Given the description of an element on the screen output the (x, y) to click on. 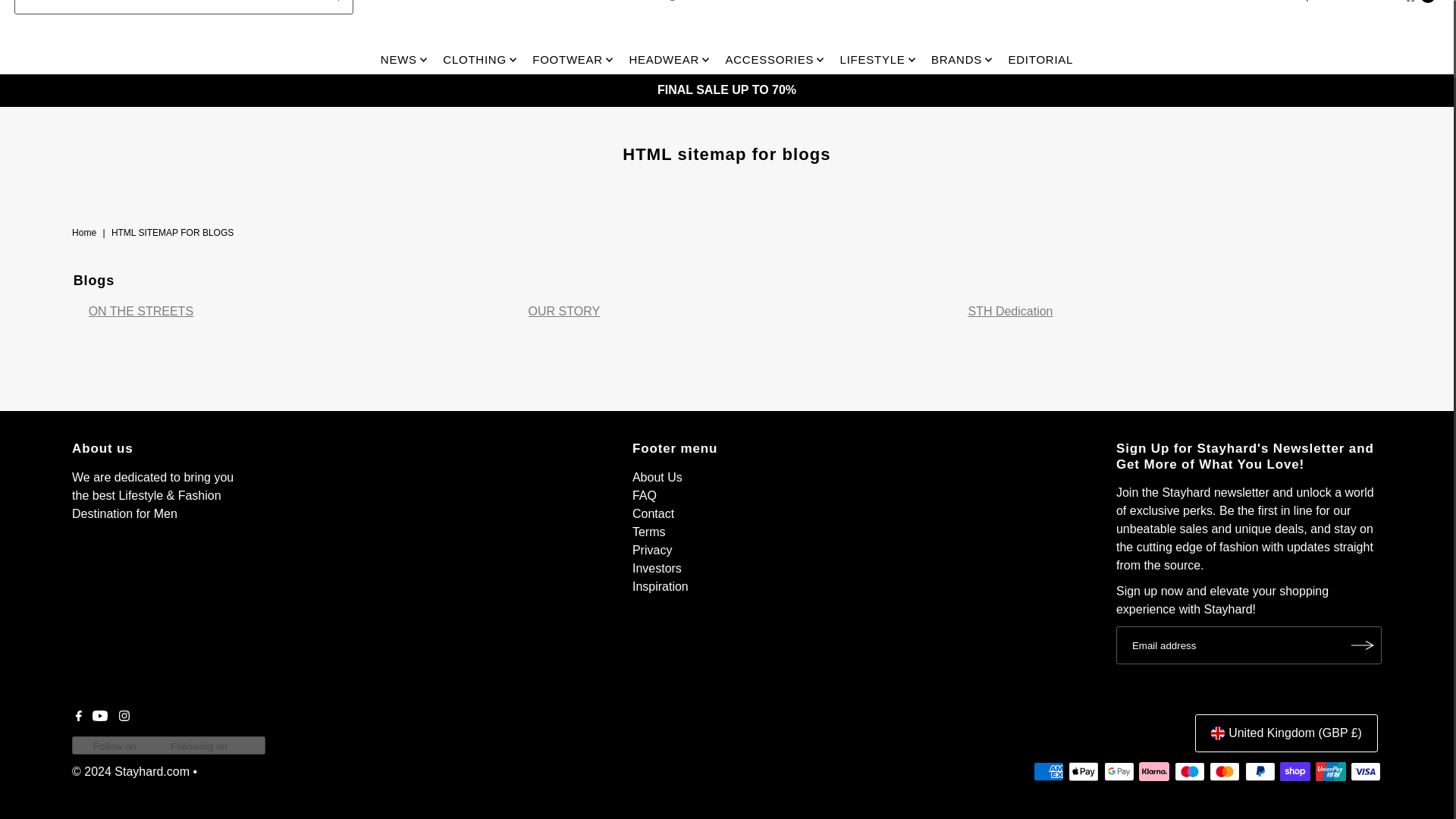
Maestro (1189, 771)
American Express (1048, 771)
Klarna (1153, 771)
Home (85, 232)
Google Pay (1118, 771)
Apple Pay (1083, 771)
Mastercard (1224, 771)
